Given the description of an element on the screen output the (x, y) to click on. 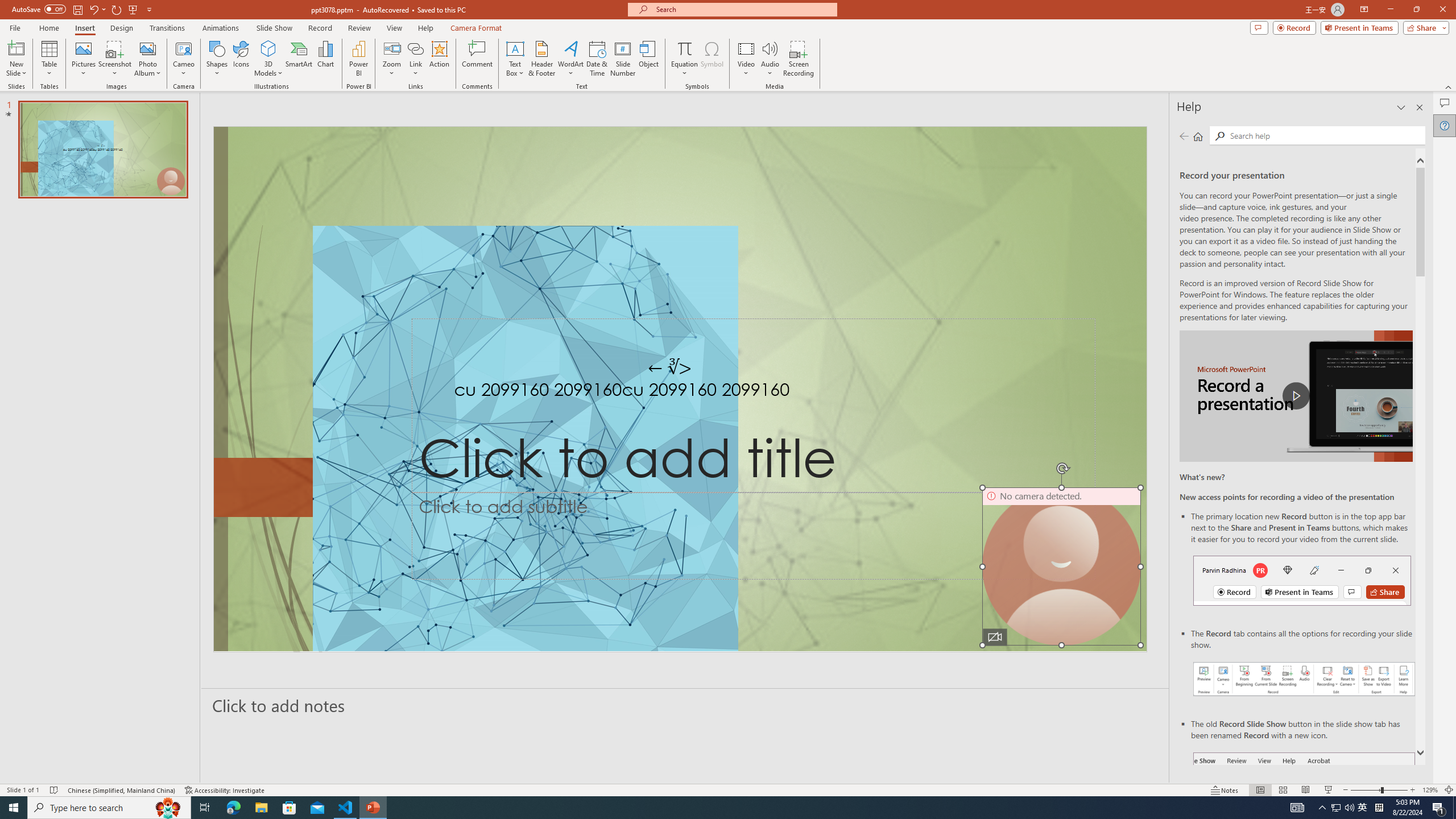
Header & Footer... (541, 58)
Slide Number (622, 58)
Record your presentations screenshot one (1304, 678)
Table (49, 58)
Date & Time... (596, 58)
Zoom 129% (1430, 790)
